Given the description of an element on the screen output the (x, y) to click on. 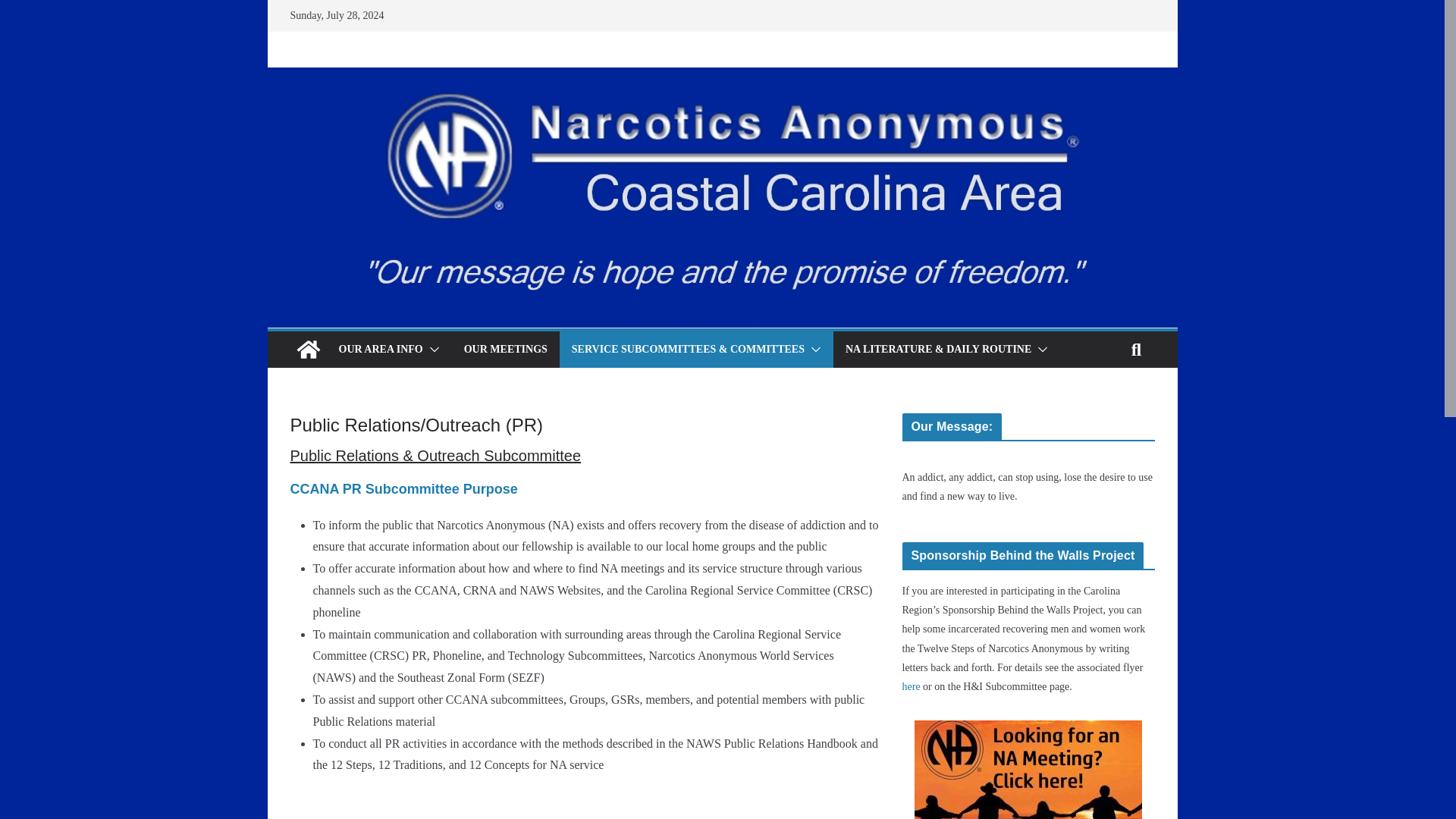
Coastal Carolina Area of Narcotics Anonymous (721, 77)
here (911, 686)
OUR AREA INFO (379, 349)
OUR MEETINGS (505, 349)
CCANA PR Subcommittee Purpose (402, 488)
Coastal Carolina Area of Narcotics Anonymous (307, 349)
